Given the description of an element on the screen output the (x, y) to click on. 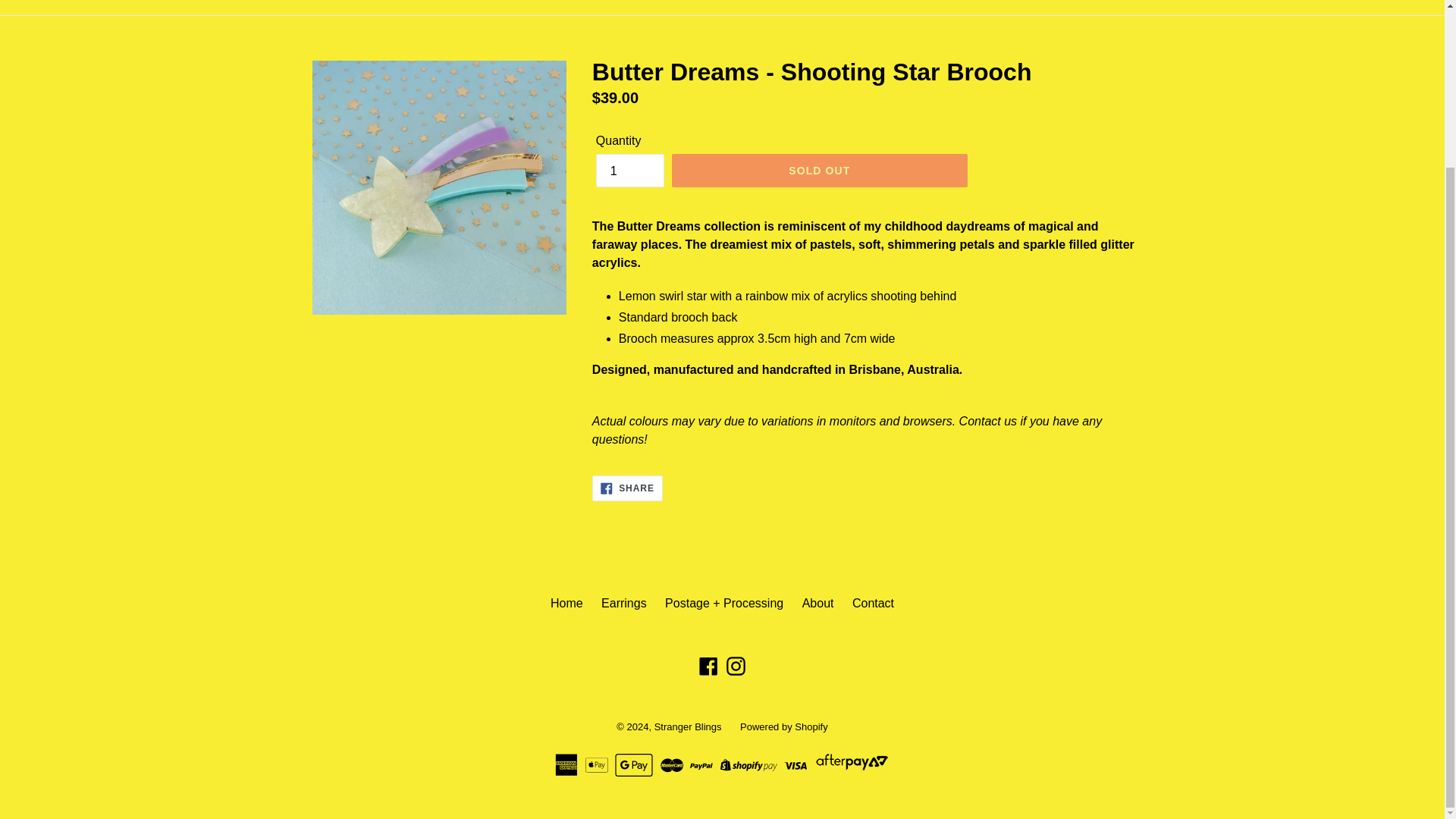
Instagram (735, 665)
SOLD OUT (819, 170)
Contact (872, 603)
Home (566, 603)
Earrings (623, 603)
Facebook (627, 488)
1 (708, 665)
Powered by Shopify (629, 170)
Stranger Blings (783, 726)
About (687, 726)
